Given the description of an element on the screen output the (x, y) to click on. 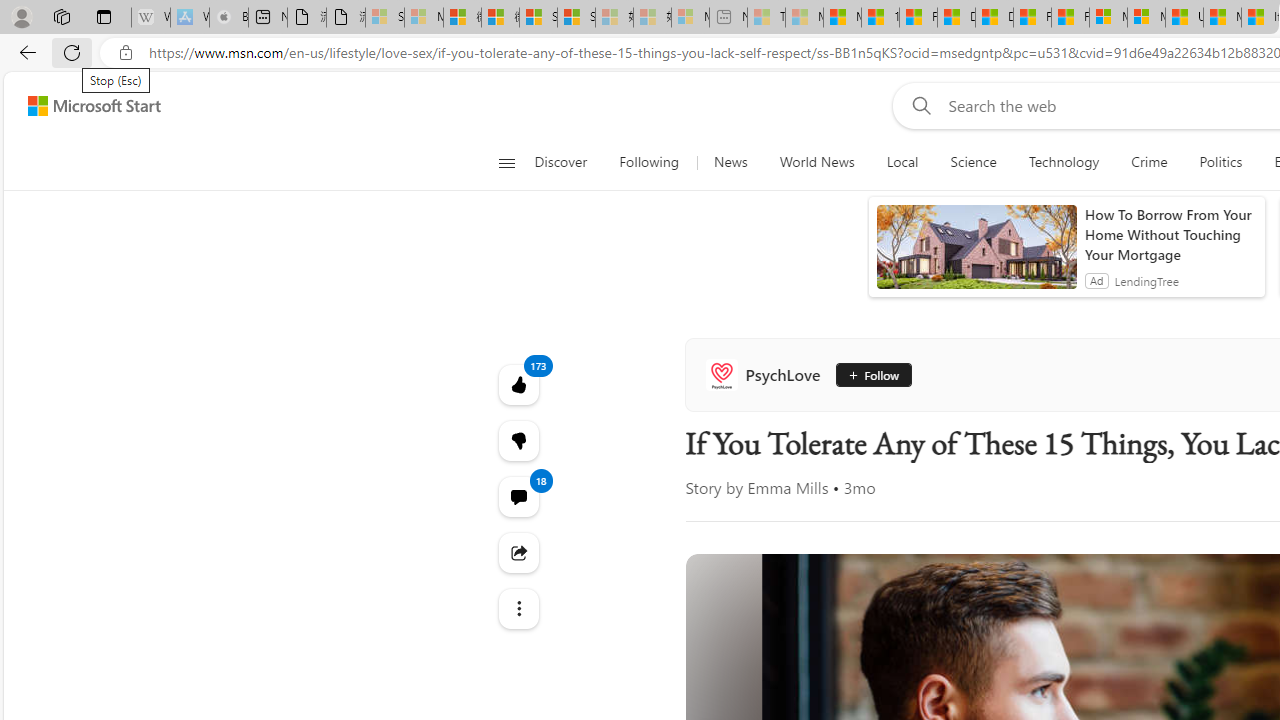
PsychLove (767, 374)
Marine life - MSN - Sleeping (804, 17)
Drinking tea every day is proven to delay biological aging (993, 17)
173 Like (517, 384)
